Given the description of an element on the screen output the (x, y) to click on. 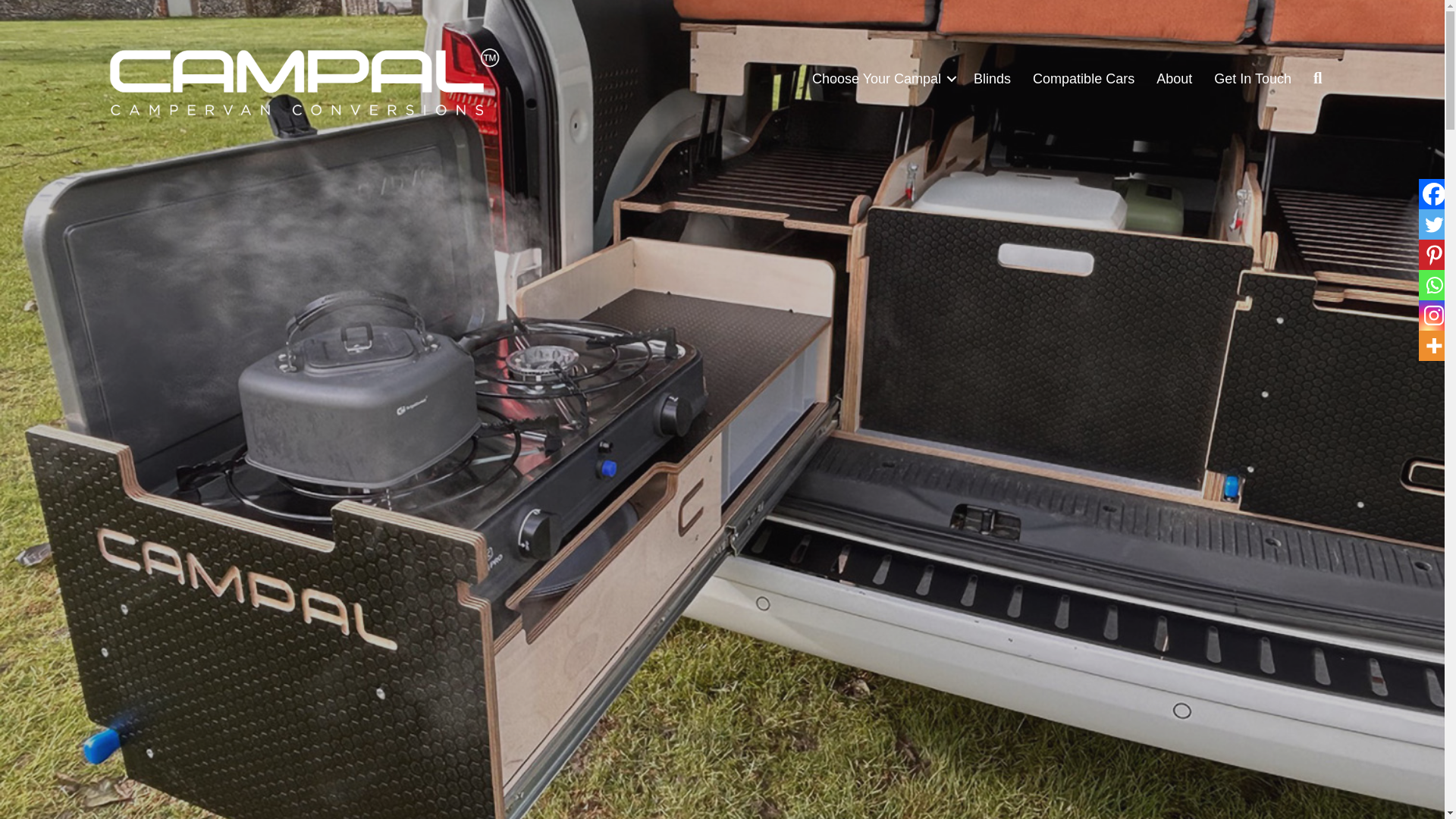
Choose Your Campal (882, 78)
Get In Touch (1252, 78)
Blinds (992, 78)
Compatible Cars (1083, 78)
About (1173, 78)
Search (1321, 78)
